Given the description of an element on the screen output the (x, y) to click on. 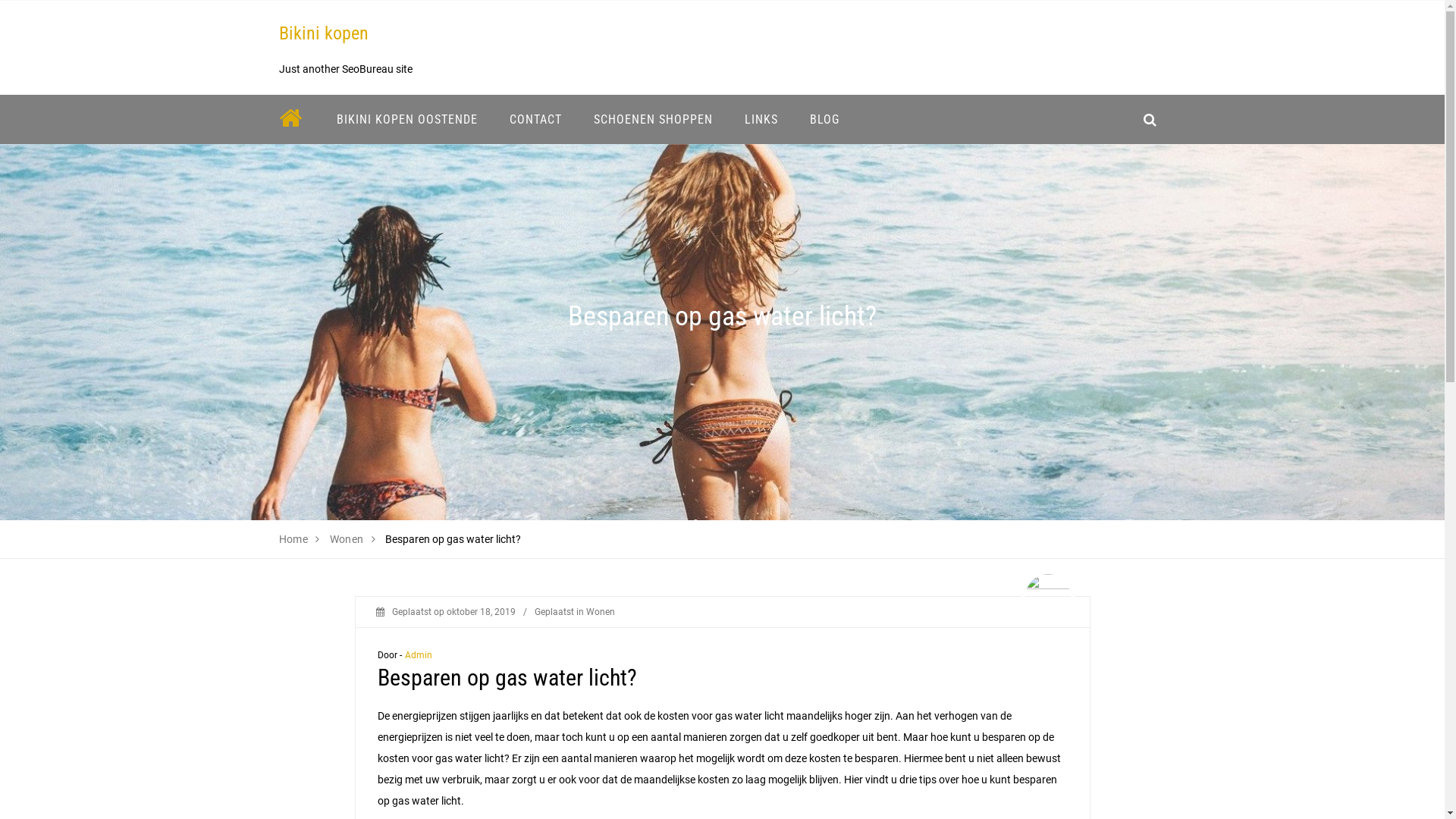
CONTACT Element type: text (534, 119)
Wonen Element type: text (346, 539)
Wonen Element type: text (599, 611)
LINKS Element type: text (760, 119)
BLOG Element type: text (823, 119)
Admin Element type: text (418, 654)
Bikini kopen Element type: text (323, 32)
SCHOENEN SHOPPEN Element type: text (652, 119)
search_icon Element type: hover (1148, 119)
Home Element type: text (293, 539)
BIKINI KOPEN OOSTENDE Element type: text (406, 119)
